Given the description of an element on the screen output the (x, y) to click on. 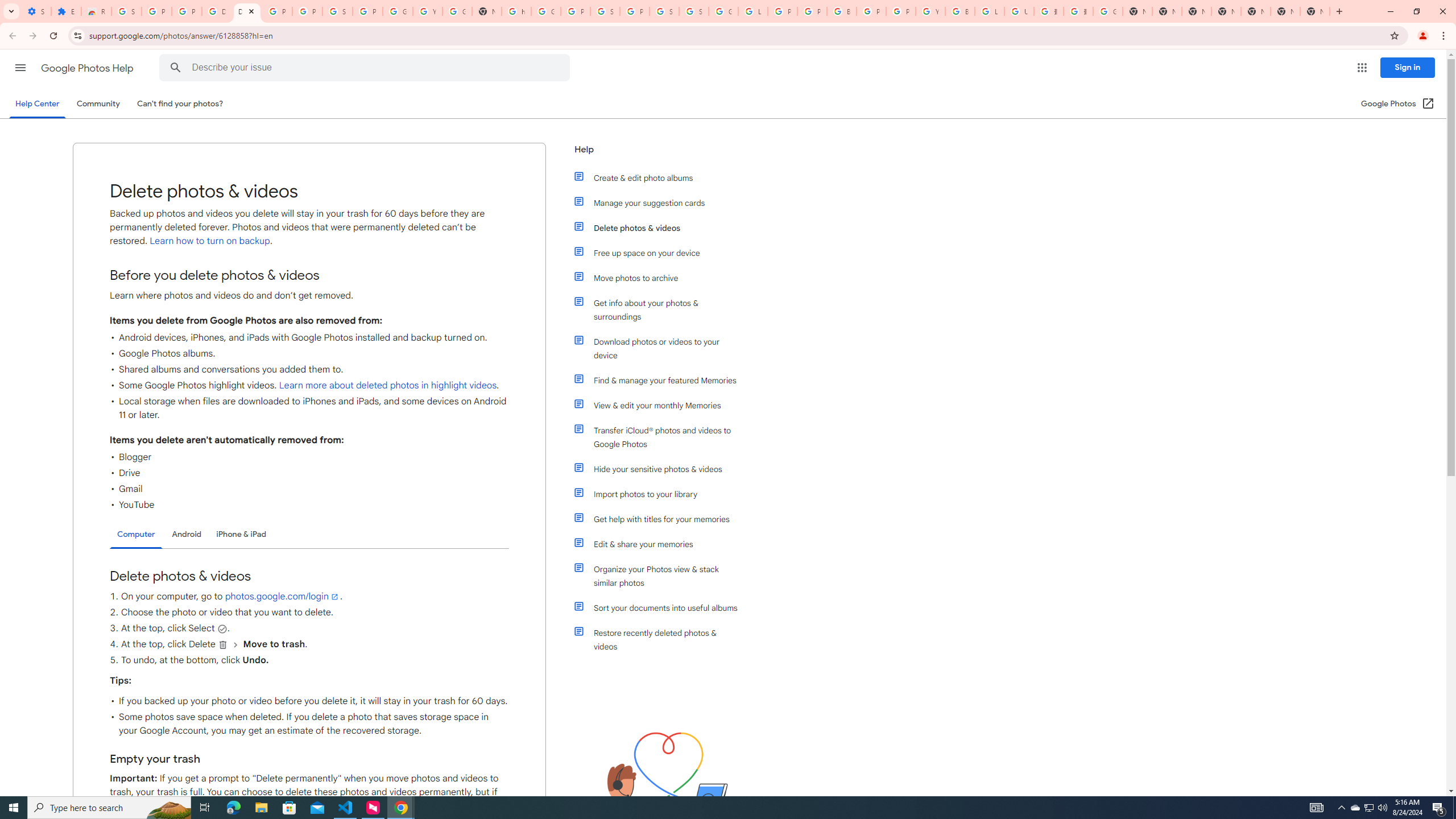
Computer (136, 534)
https://scholar.google.com/ (515, 11)
Get info about your photos & surroundings (661, 309)
Edit & share your memories (661, 543)
Sign in - Google Accounts (337, 11)
Sign in - Google Accounts (693, 11)
Organize your Photos view & stack similar photos (661, 575)
Community (97, 103)
Learn more about deleted photos in highlight videos (387, 385)
Extensions (65, 11)
Can't find your photos? (180, 103)
 Learn how to turn on backup (208, 240)
Create & edit photo albums (661, 177)
